Given the description of an element on the screen output the (x, y) to click on. 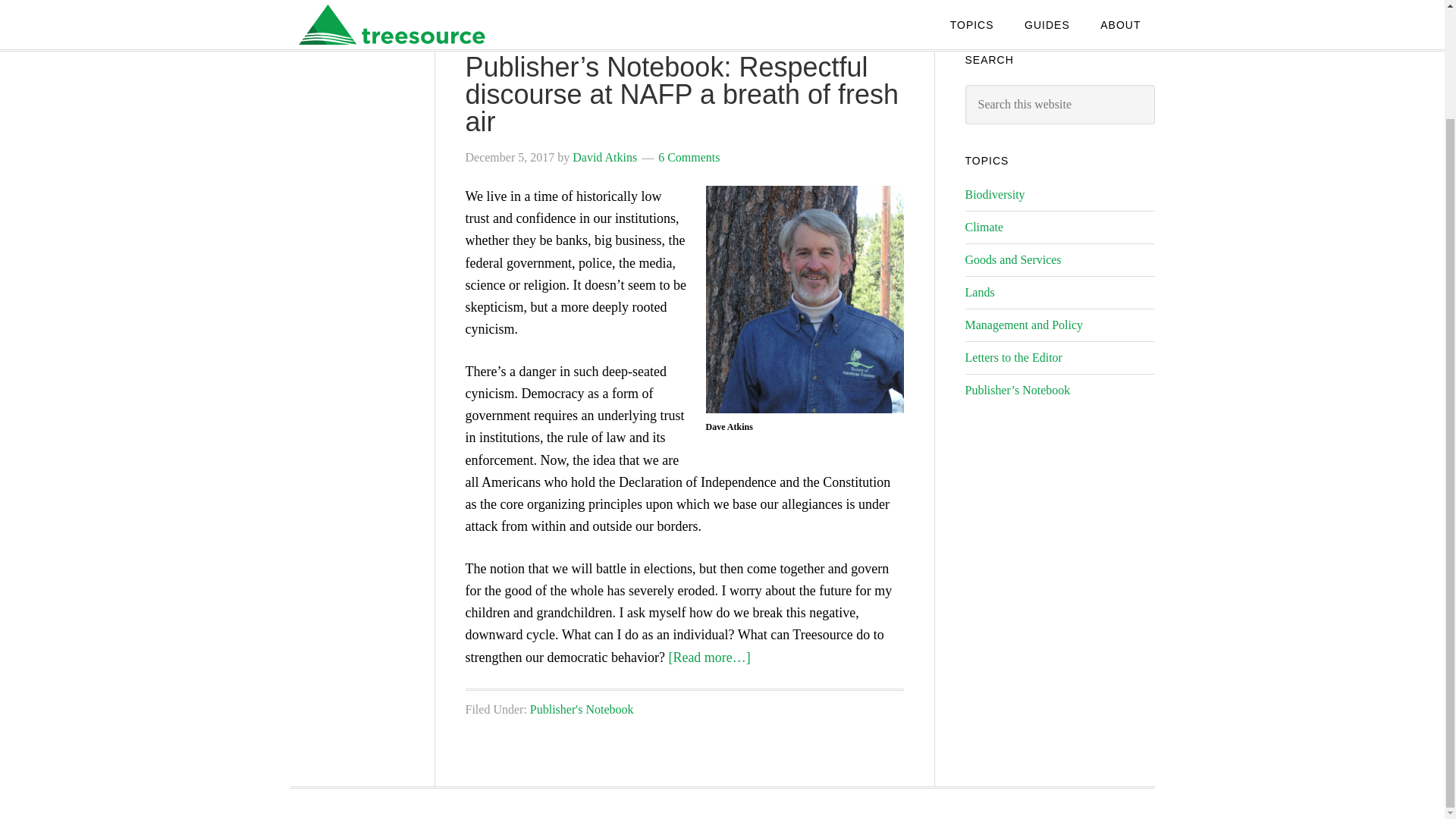
Biodiversity (994, 194)
Management and Policy (1023, 324)
Goods and Services (1012, 259)
Lands (978, 291)
Climate (983, 226)
Publisher's Notebook (581, 708)
David Atkins (604, 156)
